Given the description of an element on the screen output the (x, y) to click on. 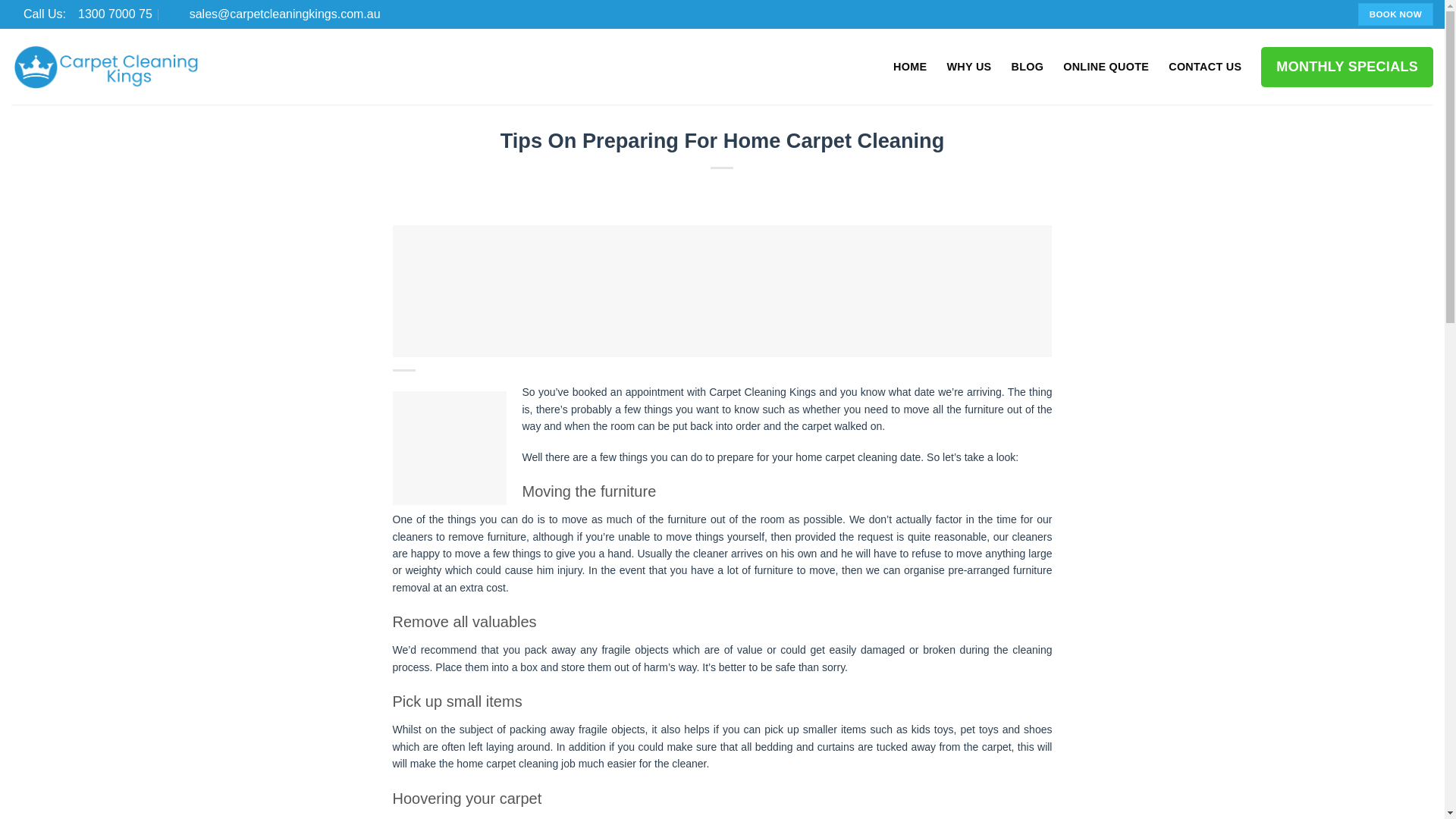
Carpet Cleaning Kings - Australia's Best Carpet Cleaners (105, 67)
ONLINE QUOTE (1105, 67)
CONTACT US (1205, 67)
BOOK NOW (1395, 14)
MONTHLY SPECIALS (81, 13)
